Given the description of an element on the screen output the (x, y) to click on. 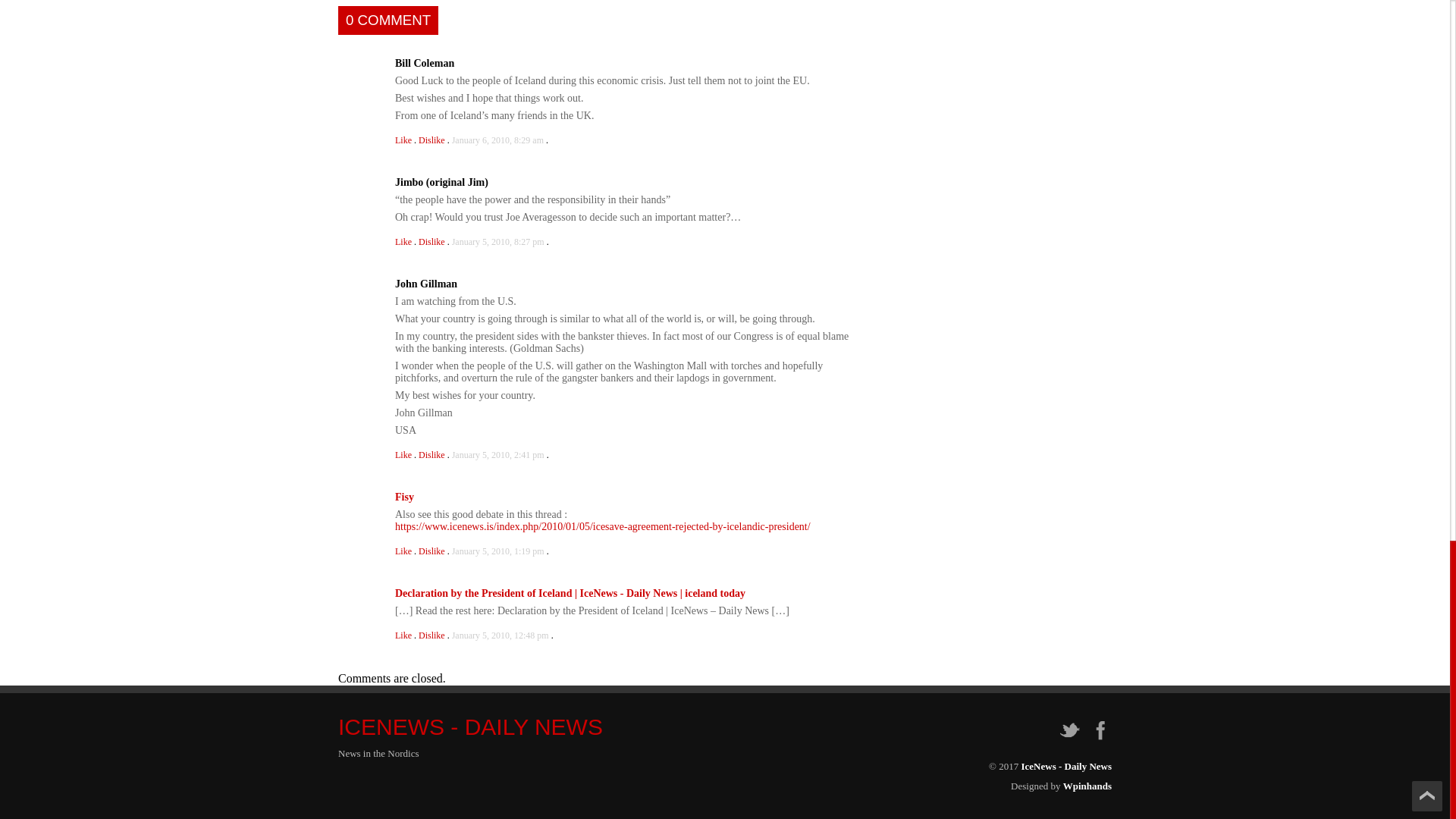
Click to dislike this comment (432, 140)
Permalink (497, 140)
Click to like this comment (403, 140)
